Given the description of an element on the screen output the (x, y) to click on. 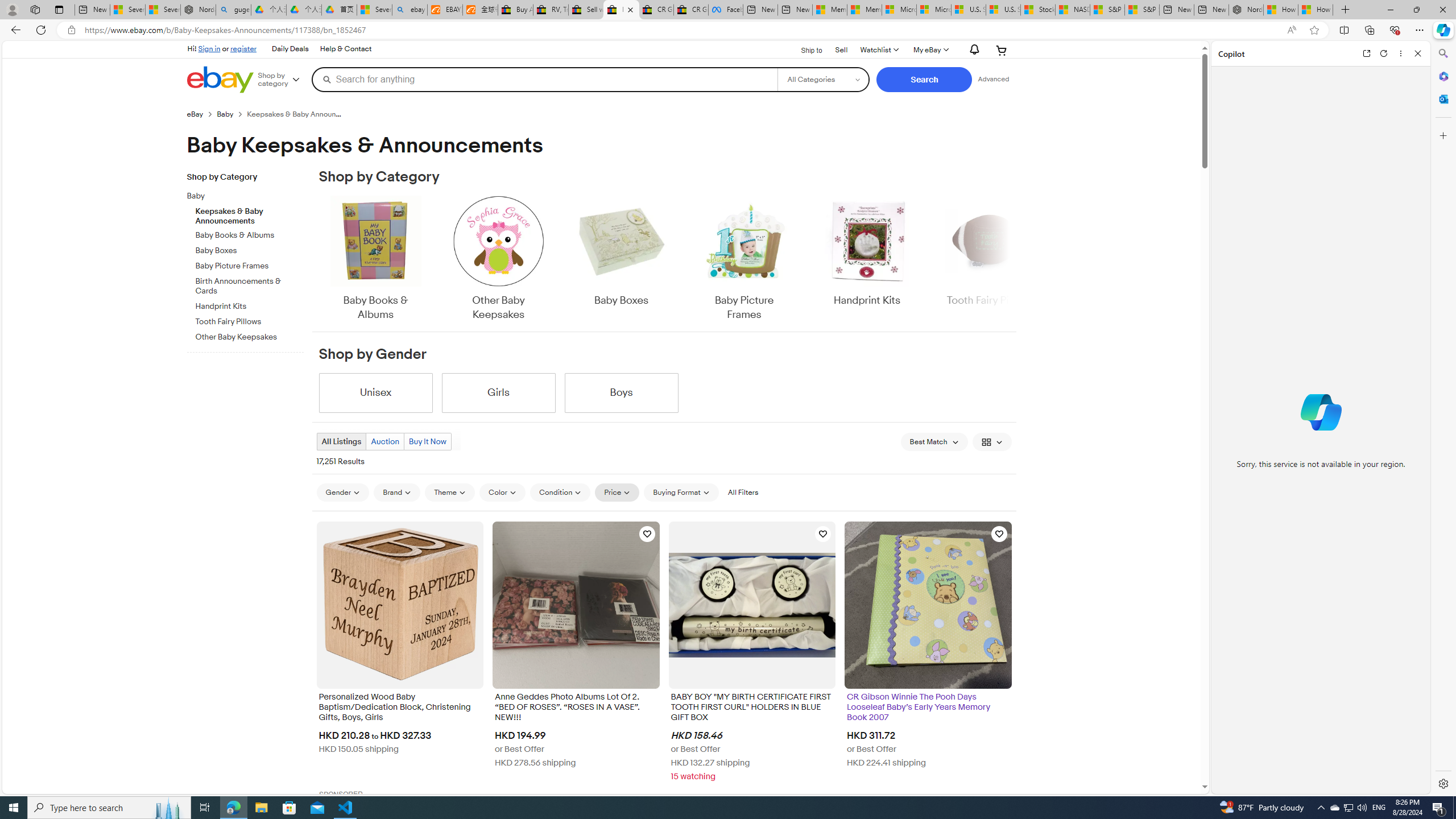
Your shopping cart (1001, 49)
Notifications (971, 49)
All Listings (340, 441)
Settings (1442, 783)
Go to previous slide (317, 258)
Buy It Now (427, 441)
Search for anything (544, 78)
Buy It Now (427, 441)
Brand (397, 492)
